Given the description of an element on the screen output the (x, y) to click on. 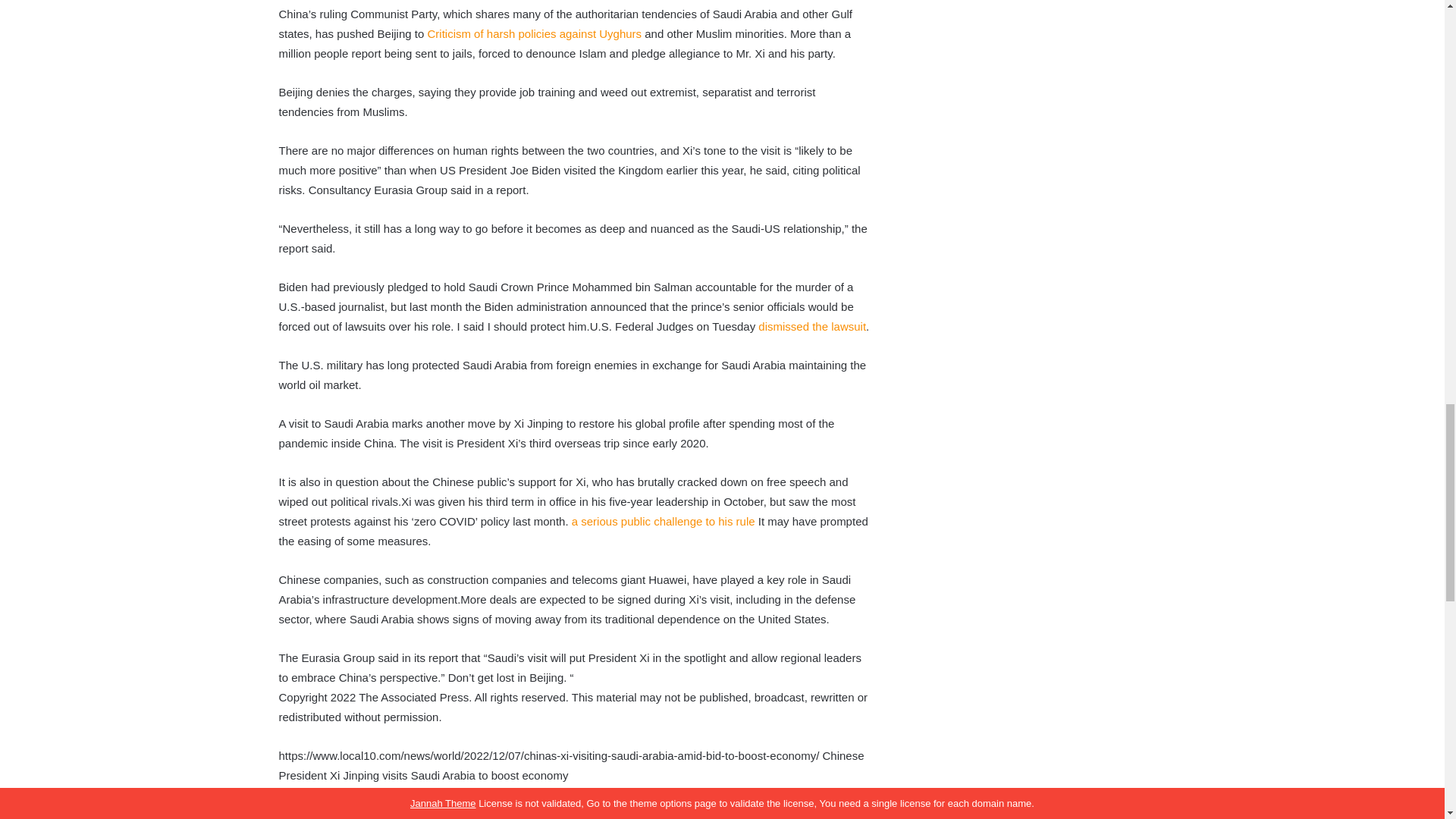
Criticism of harsh policies against Uyghurs (534, 33)
a serious public challenge to his rule (663, 521)
dismissed the lawsuit (812, 326)
